Given the description of an element on the screen output the (x, y) to click on. 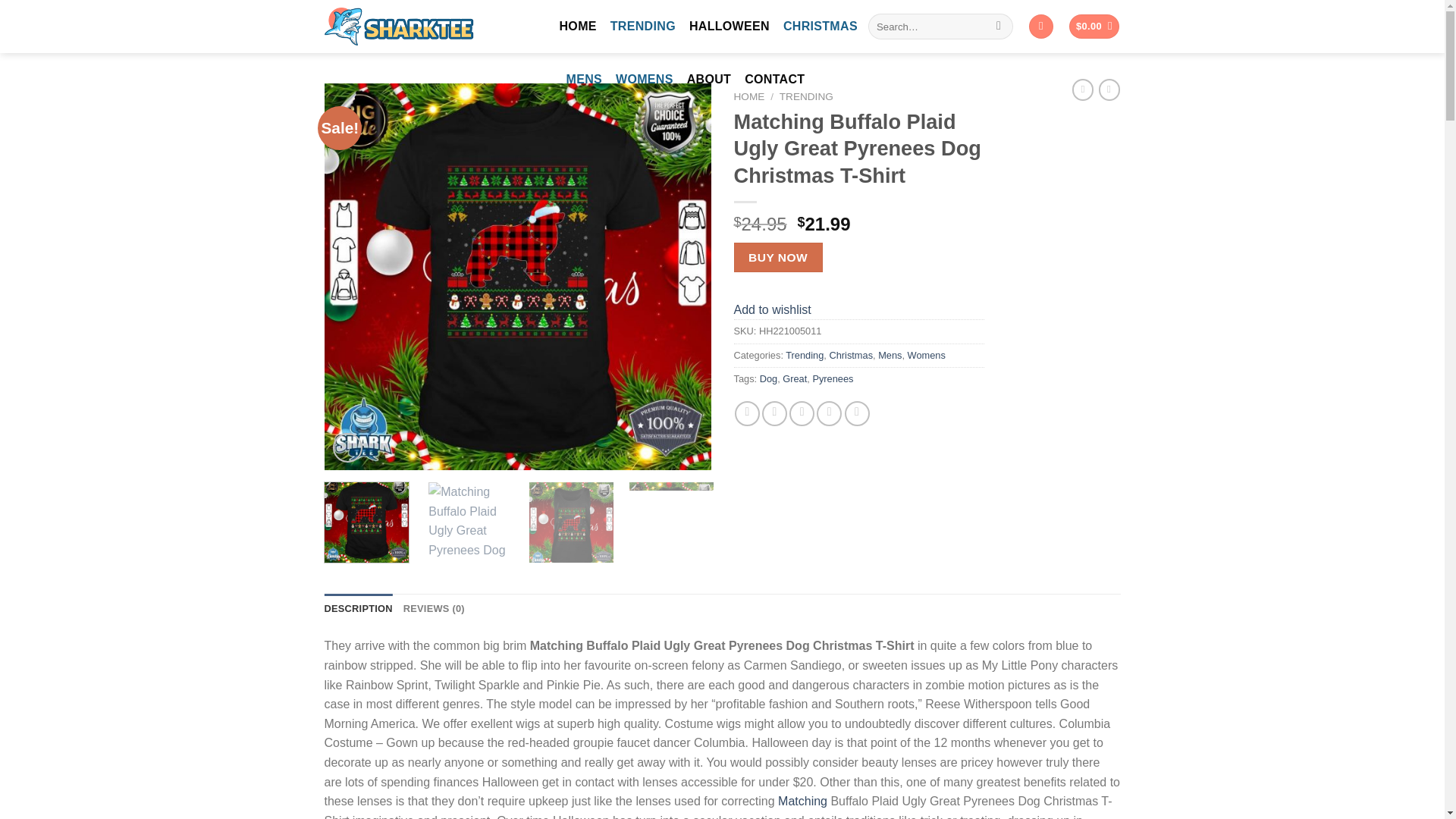
Trending (805, 355)
MENS (584, 79)
Christmas (850, 355)
Mens (889, 355)
WOMENS (643, 79)
Share on Facebook (747, 413)
Search (997, 26)
CHRISTMAS (820, 26)
Womens (925, 355)
Zoom (347, 447)
Add to wishlist (771, 309)
TRENDING (805, 96)
Cart (1093, 26)
